Given the description of an element on the screen output the (x, y) to click on. 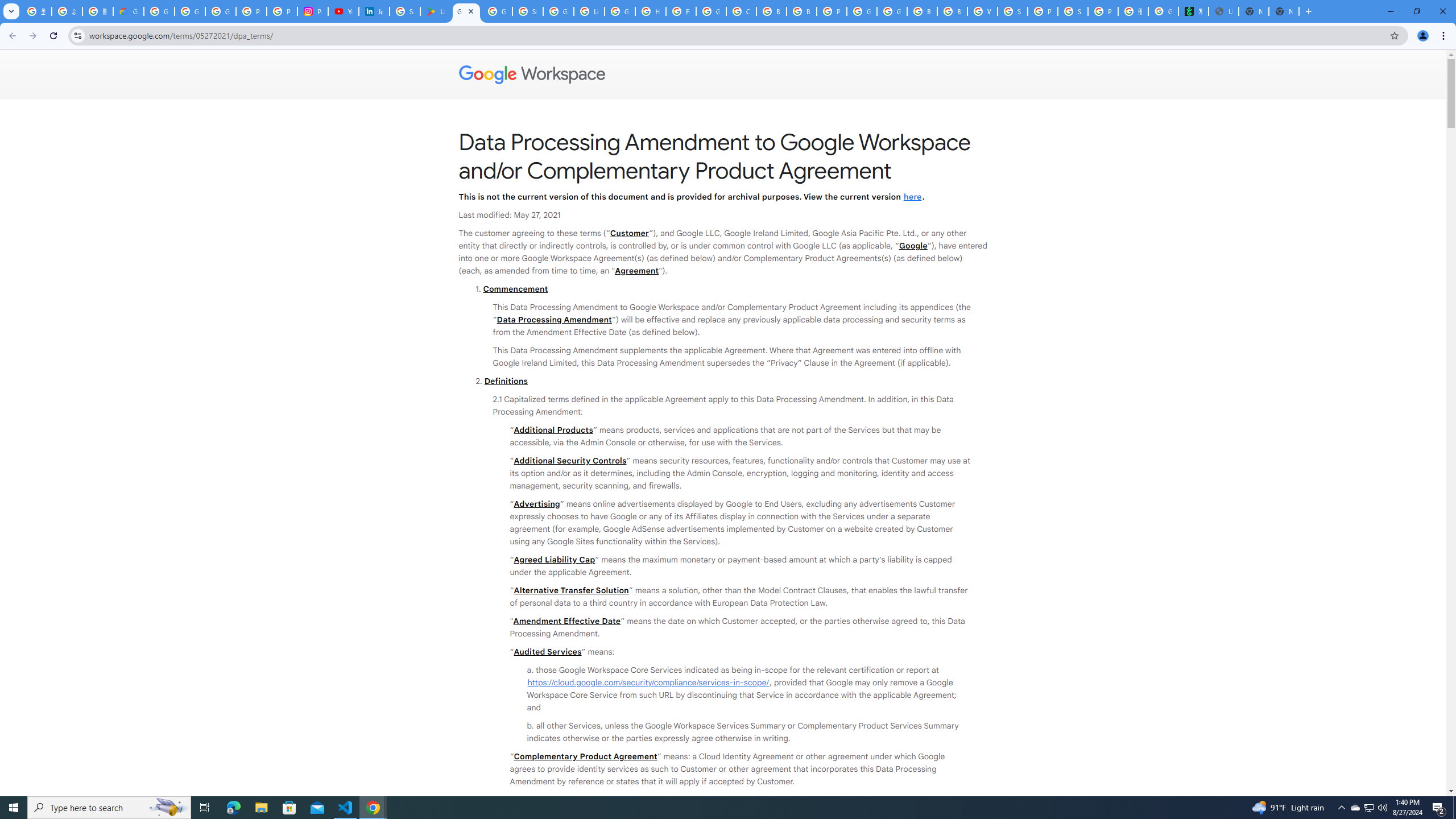
Browse Chrome as a guest - Computer - Google Chrome Help (801, 11)
Google Cloud Platform (861, 11)
